Given the description of an element on the screen output the (x, y) to click on. 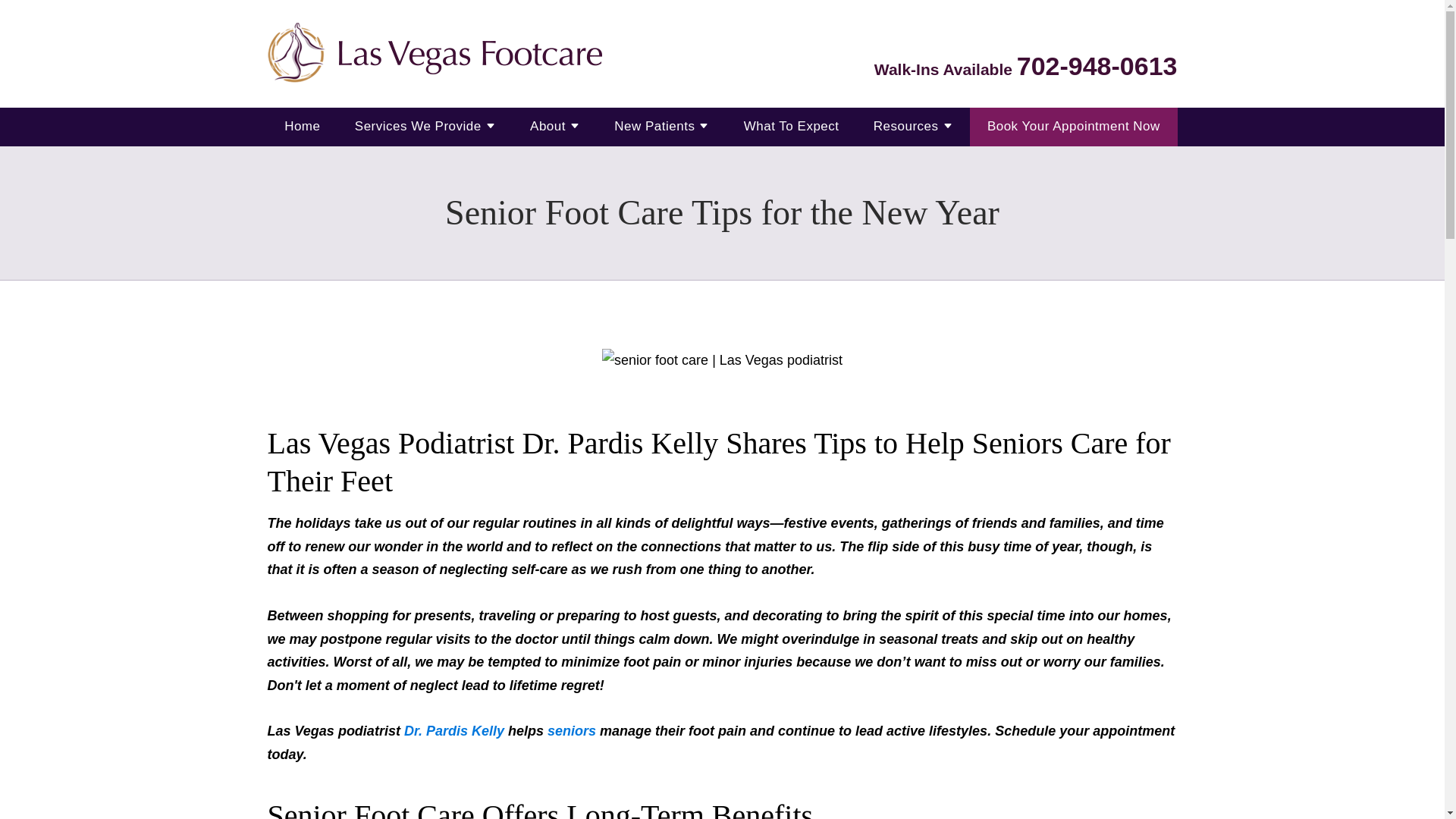
Book Your Appointment Now (1073, 126)
Services We Provide (418, 126)
New Patients (654, 126)
call local (1096, 65)
About (547, 126)
Home (301, 126)
702-948-0613 (1096, 65)
seniors (571, 730)
What To Expect (792, 126)
Dr. Pardis Kelly (453, 730)
